Given the description of an element on the screen output the (x, y) to click on. 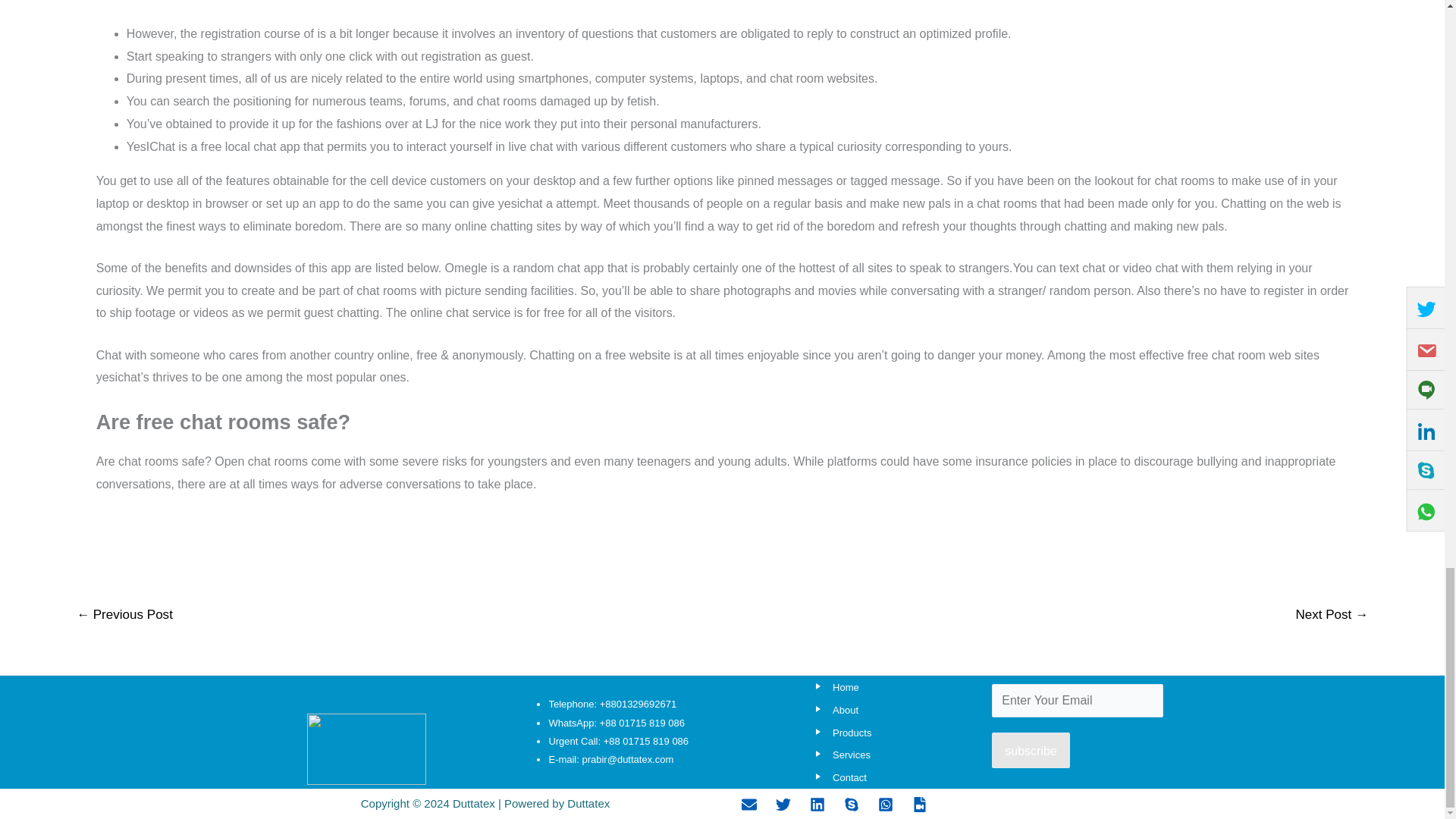
Home (834, 686)
Services (839, 754)
subscribe (1029, 750)
Products (839, 732)
About (834, 709)
Contact (837, 777)
